Given the description of an element on the screen output the (x, y) to click on. 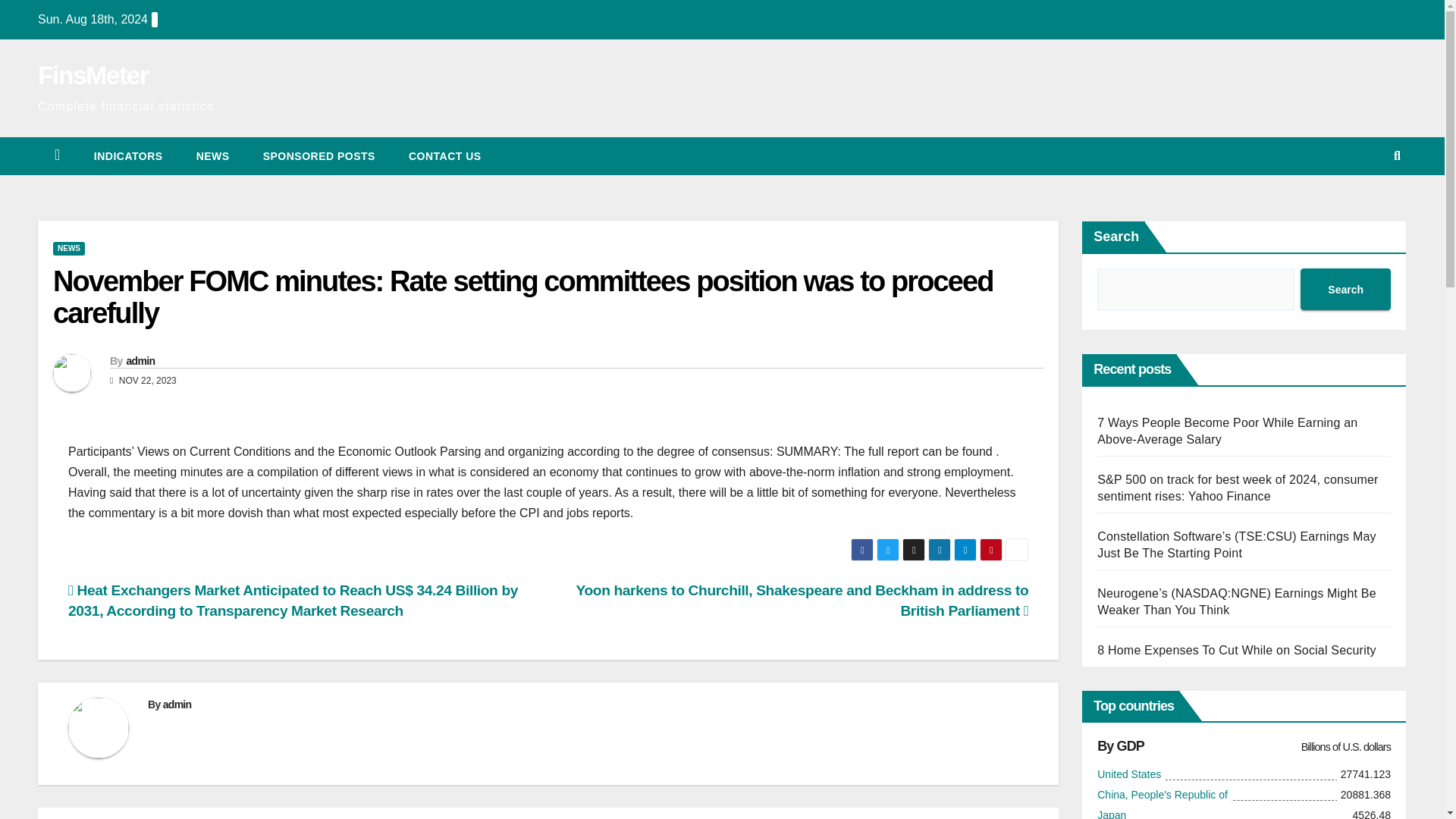
admin (139, 360)
SPONSORED POSTS (318, 156)
NEWS (212, 156)
Contact us (444, 156)
CONTACT US (444, 156)
INDICATORS (128, 156)
NEWS (68, 248)
FinsMeter (92, 74)
